Given the description of an element on the screen output the (x, y) to click on. 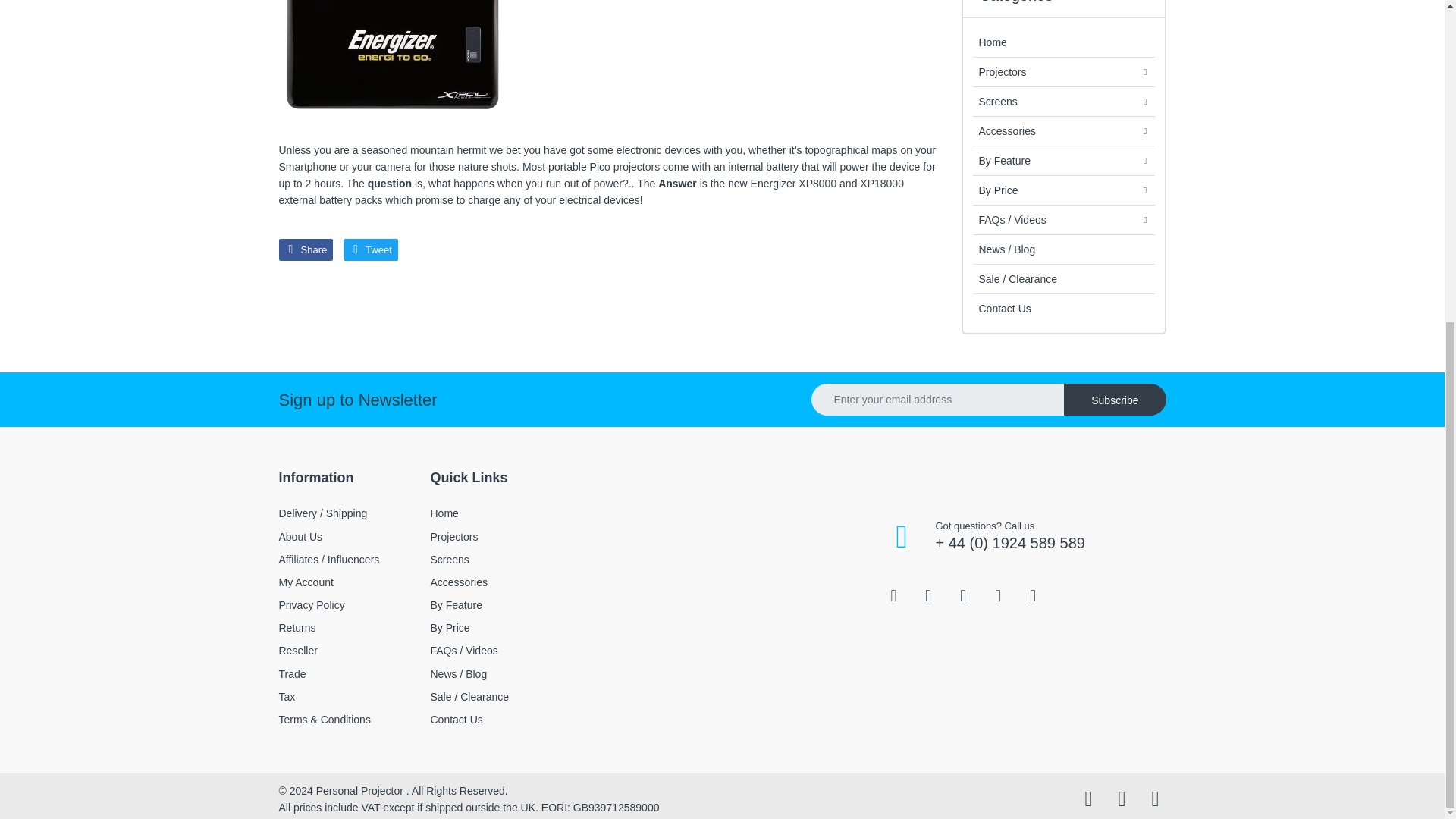
Twitter (370, 250)
Personal Projector  (935, 477)
Facebook (306, 250)
01 (392, 65)
